Given the description of an element on the screen output the (x, y) to click on. 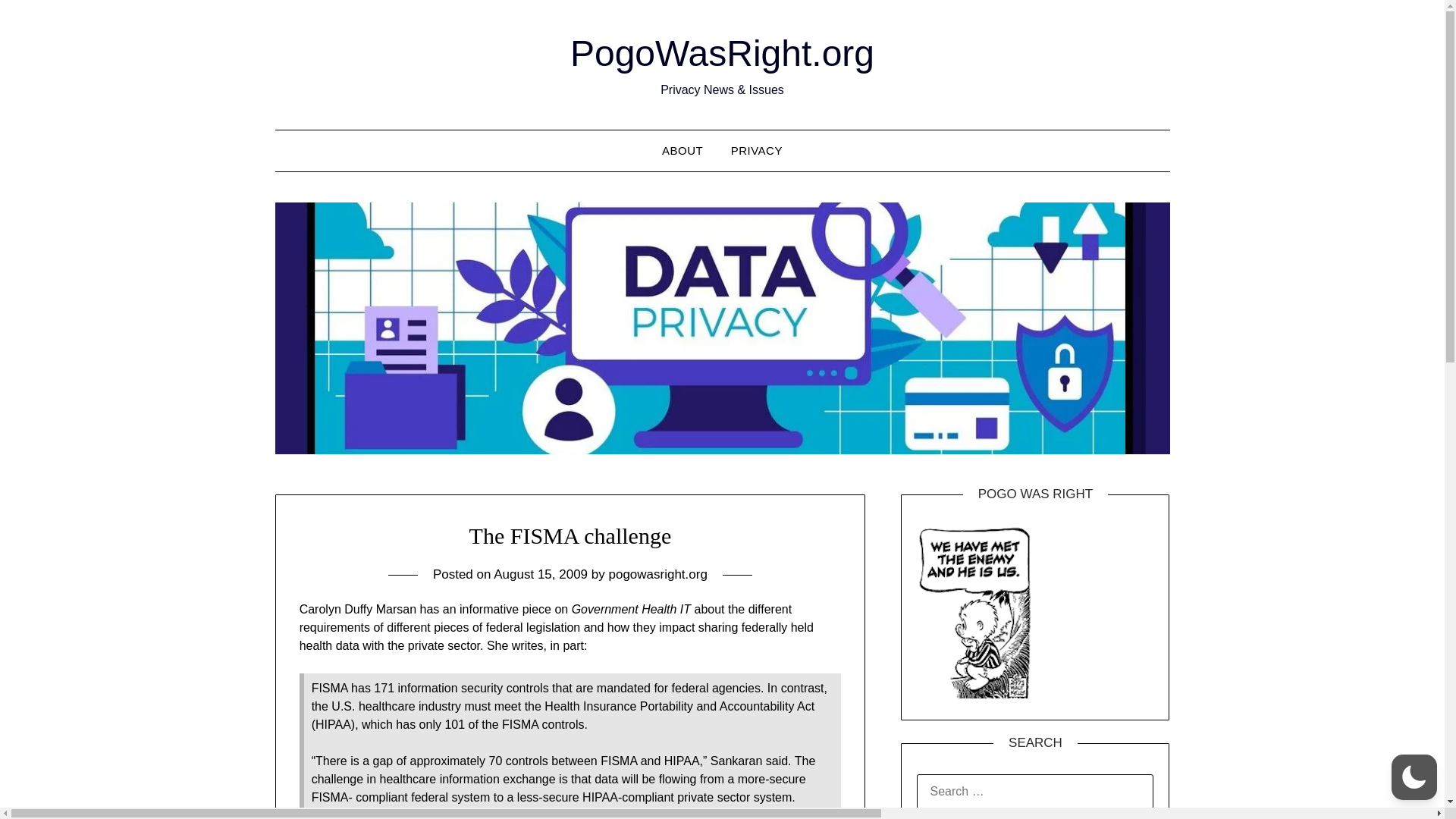
ABOUT (681, 150)
August 15, 2009 (540, 574)
PRIVACY (756, 150)
Search (38, 22)
PogoWasRight.org (722, 53)
pogowasright.org (657, 574)
